Given the description of an element on the screen output the (x, y) to click on. 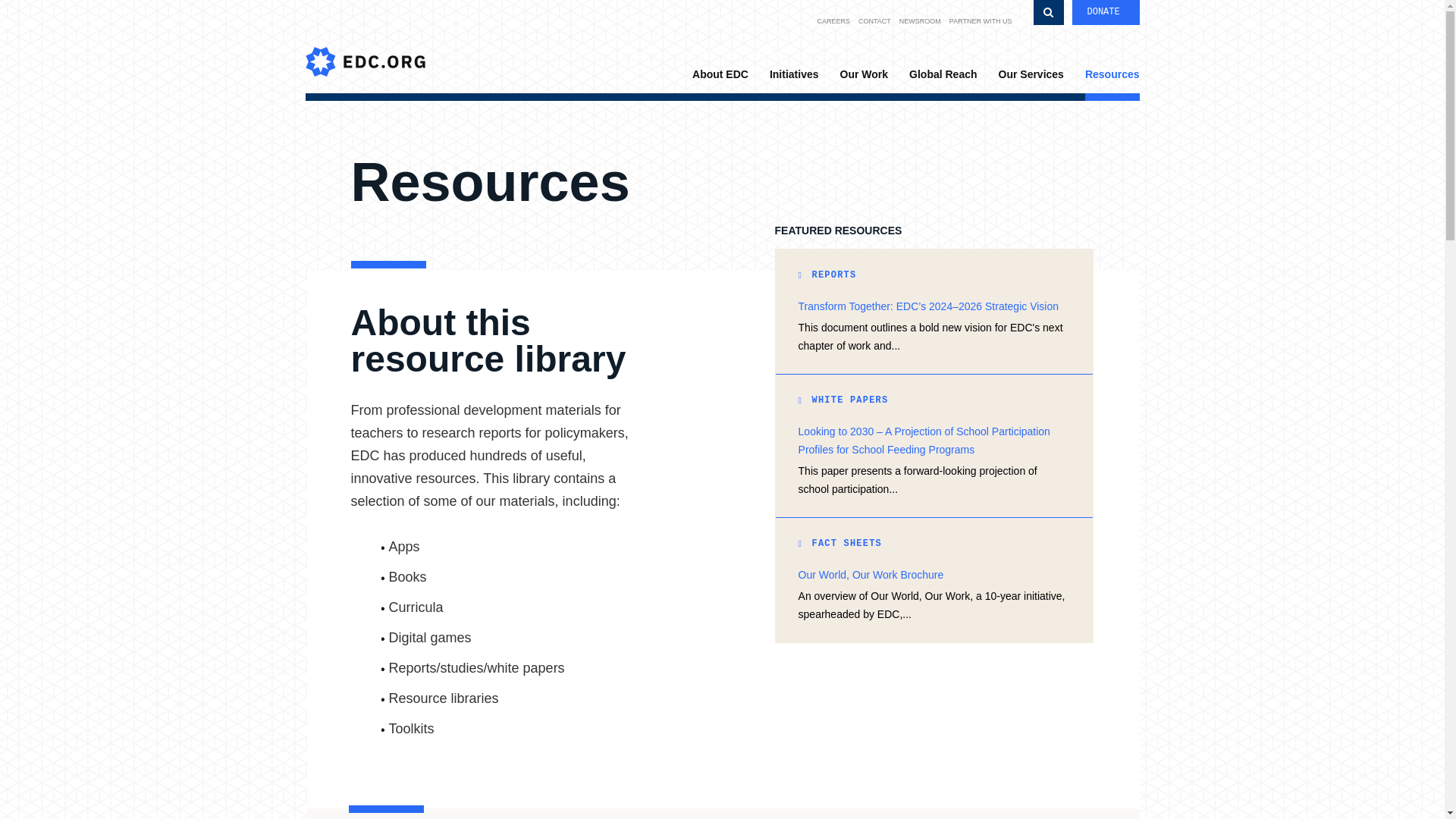
Home (364, 46)
Initiatives (794, 76)
About EDC (720, 76)
Our Work (864, 76)
